Given the description of an element on the screen output the (x, y) to click on. 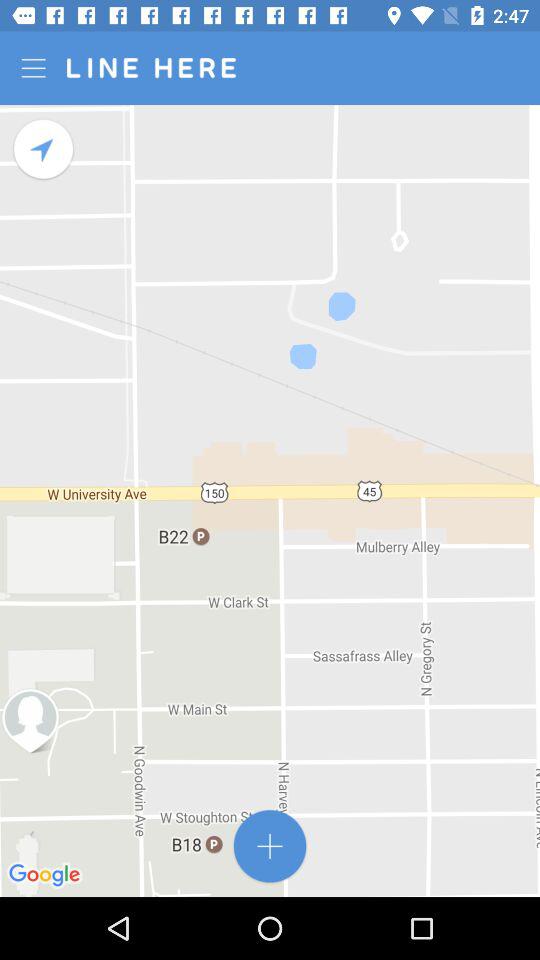
app online (269, 846)
